Given the description of an element on the screen output the (x, y) to click on. 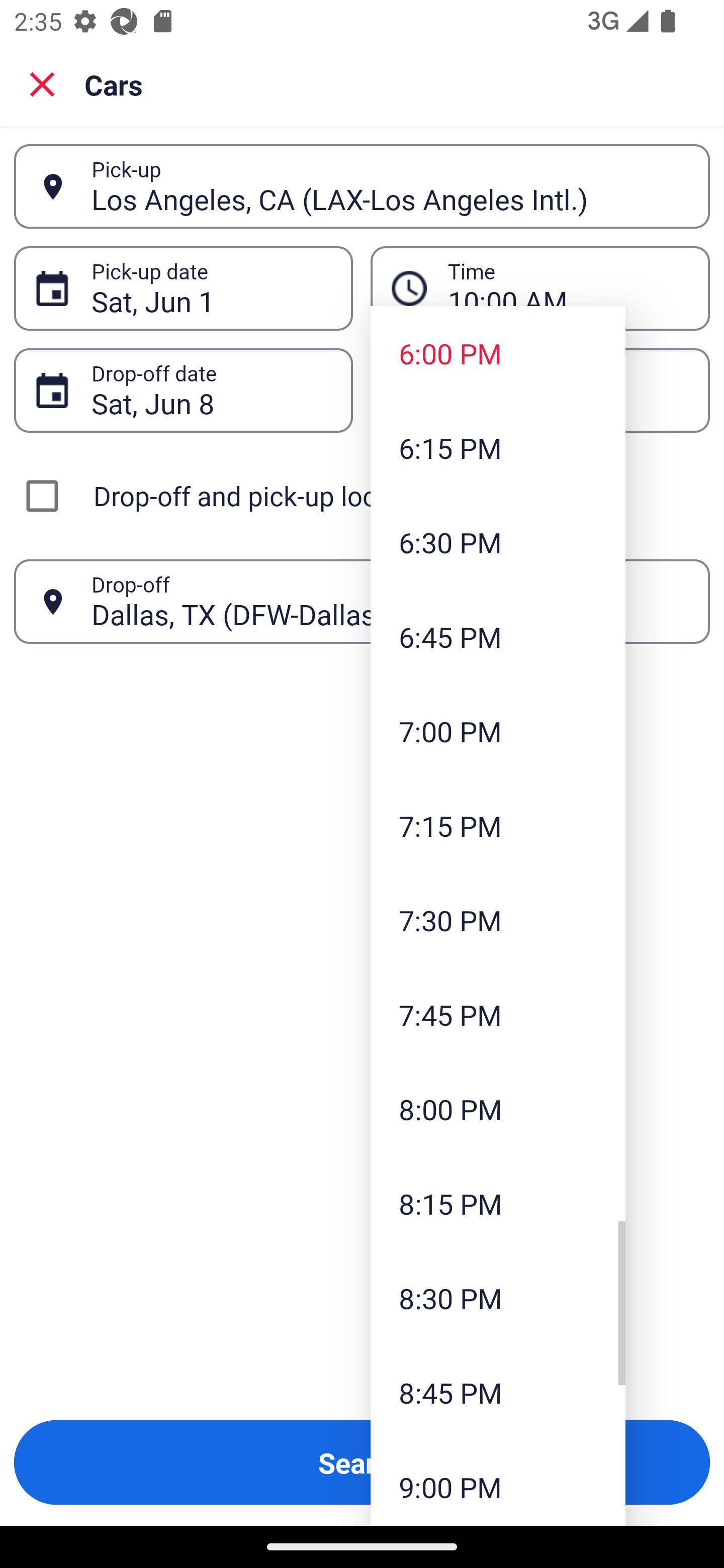
6:00 PM (497, 352)
6:15 PM (497, 447)
6:30 PM (497, 542)
6:45 PM (497, 636)
7:00 PM (497, 730)
7:15 PM (497, 825)
7:30 PM (497, 920)
7:45 PM (497, 1014)
8:00 PM (497, 1109)
8:15 PM (497, 1204)
8:30 PM (497, 1298)
8:45 PM (497, 1392)
9:00 PM (497, 1482)
